Given the description of an element on the screen output the (x, y) to click on. 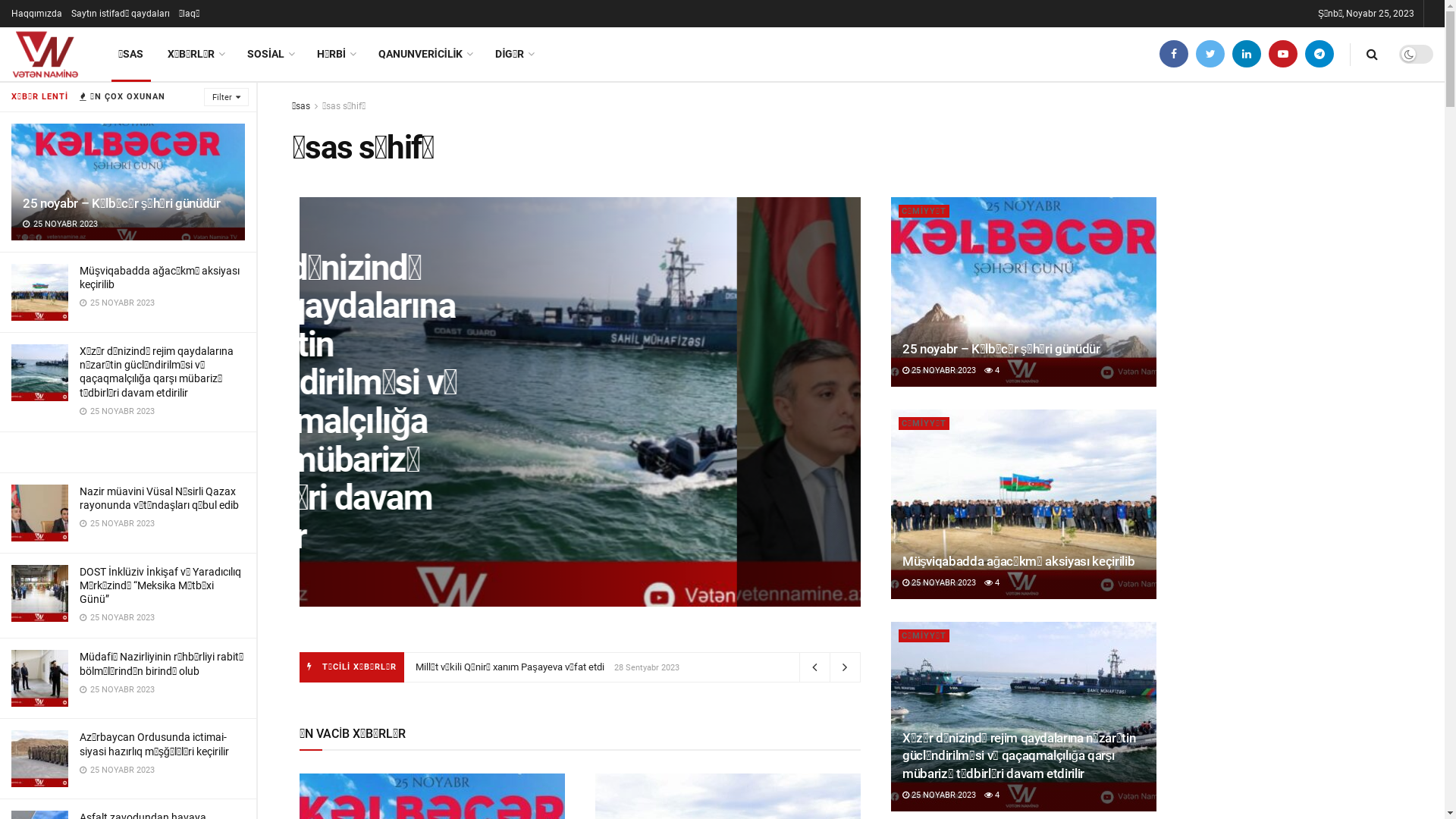
SOSIAL Element type: text (269, 54)
QANUNVERICILIK Element type: text (424, 54)
25 NOYABR 2023 Element type: text (938, 795)
4 Element type: text (991, 795)
Filter Element type: text (225, 96)
25 NOYABR 2023 Element type: text (938, 370)
25 NOYABR 2023 Element type: text (938, 582)
4 Element type: text (991, 370)
4 Element type: text (991, 582)
